Given the description of an element on the screen output the (x, y) to click on. 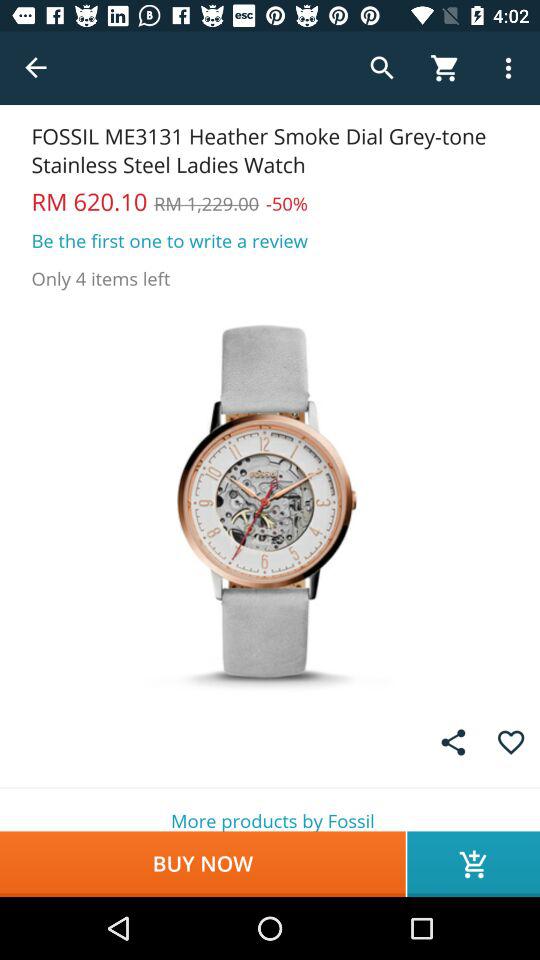
click item above only 4 items item (169, 240)
